Given the description of an element on the screen output the (x, y) to click on. 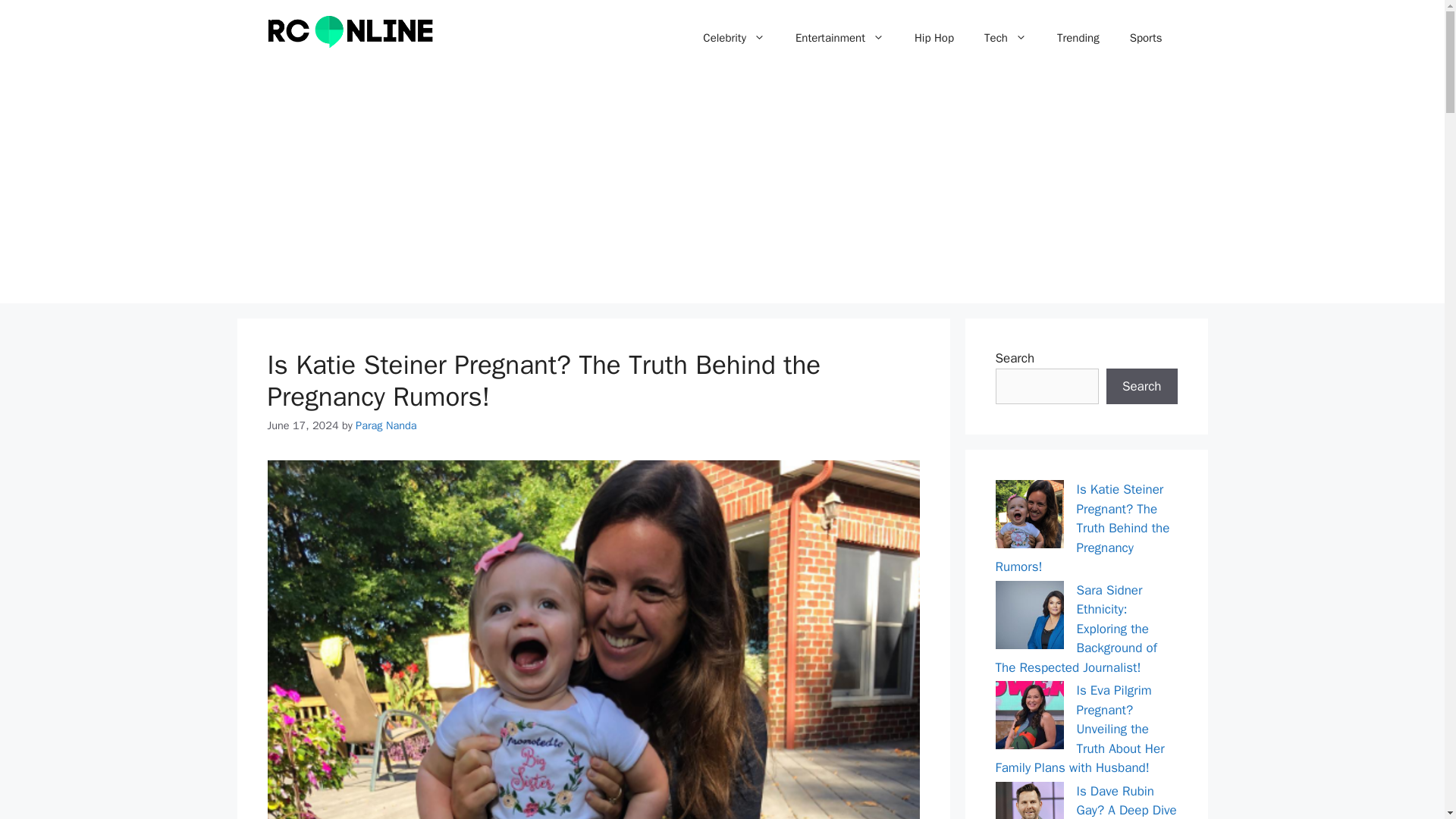
Celebrity (733, 37)
Sports (1146, 37)
Entertainment (839, 37)
Tech (1005, 37)
Hip Hop (934, 37)
Parag Nanda (385, 425)
View all posts by Parag Nanda (385, 425)
Trending (1078, 37)
